Given the description of an element on the screen output the (x, y) to click on. 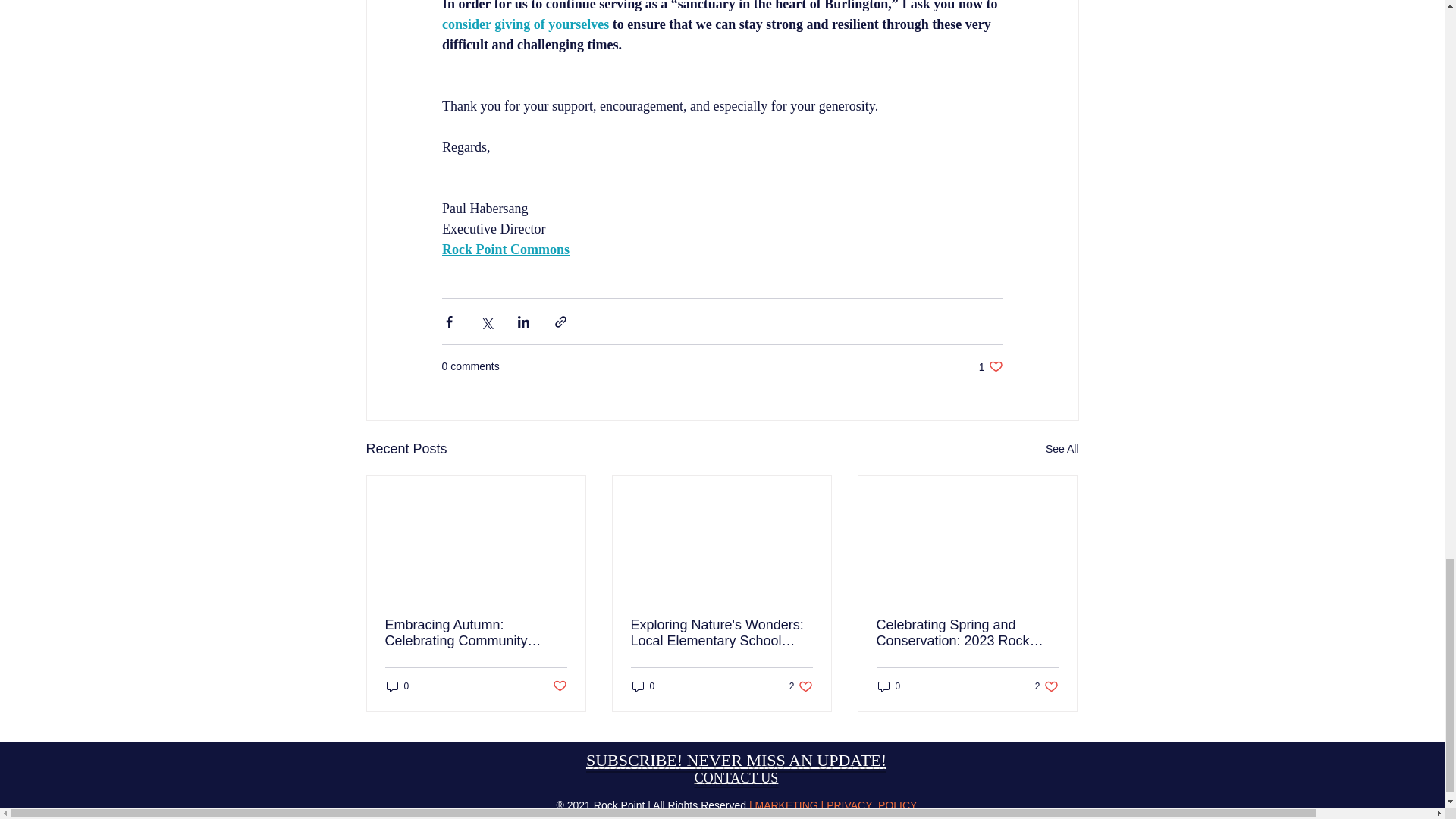
consider giving of yourselves (524, 23)
See All (1061, 449)
Post not marked as liked (558, 686)
Rock Point Commons (505, 249)
0 (643, 686)
0 (397, 686)
